Given the description of an element on the screen output the (x, y) to click on. 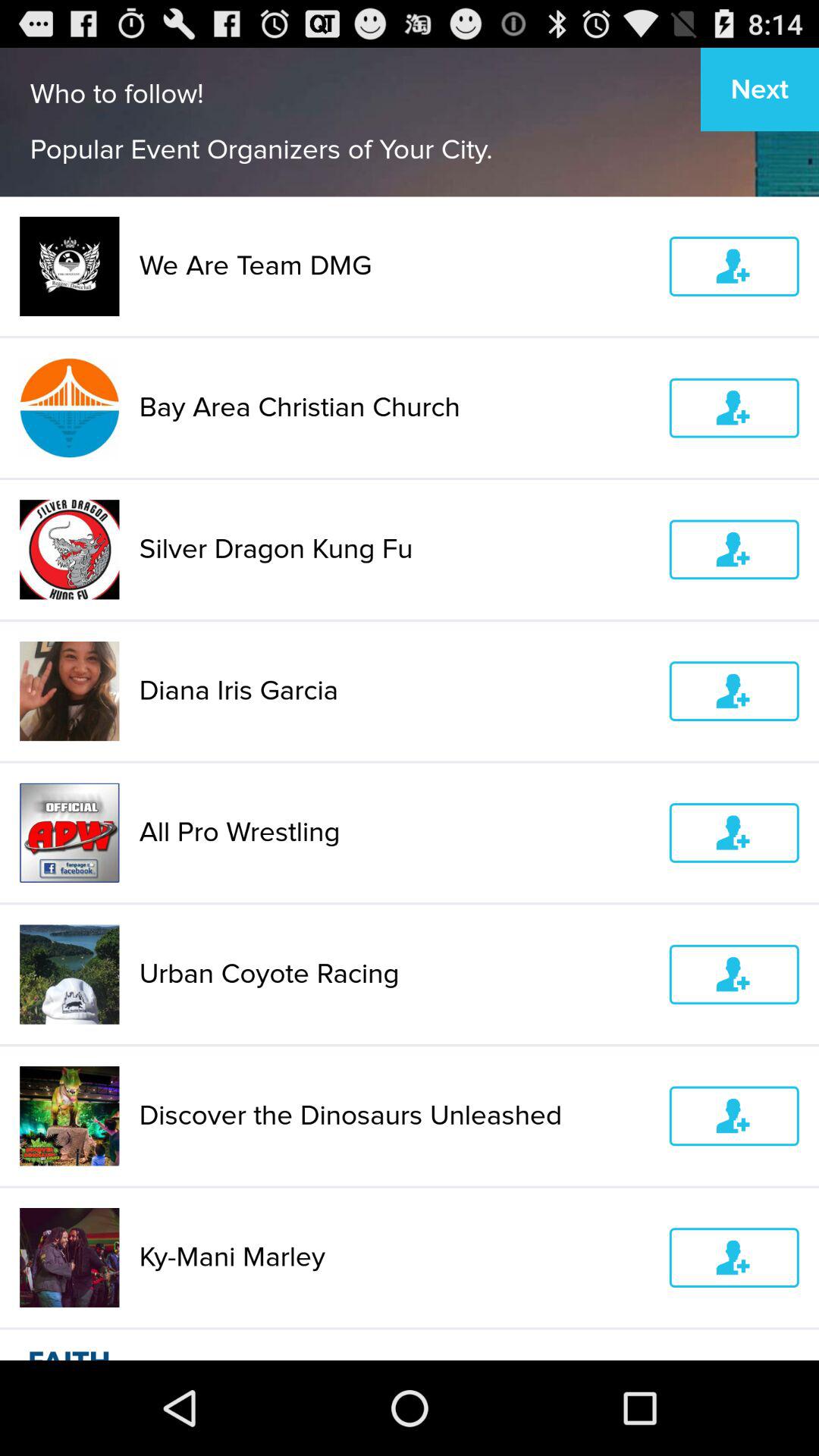
press the item below the silver dragon kung icon (394, 690)
